Given the description of an element on the screen output the (x, y) to click on. 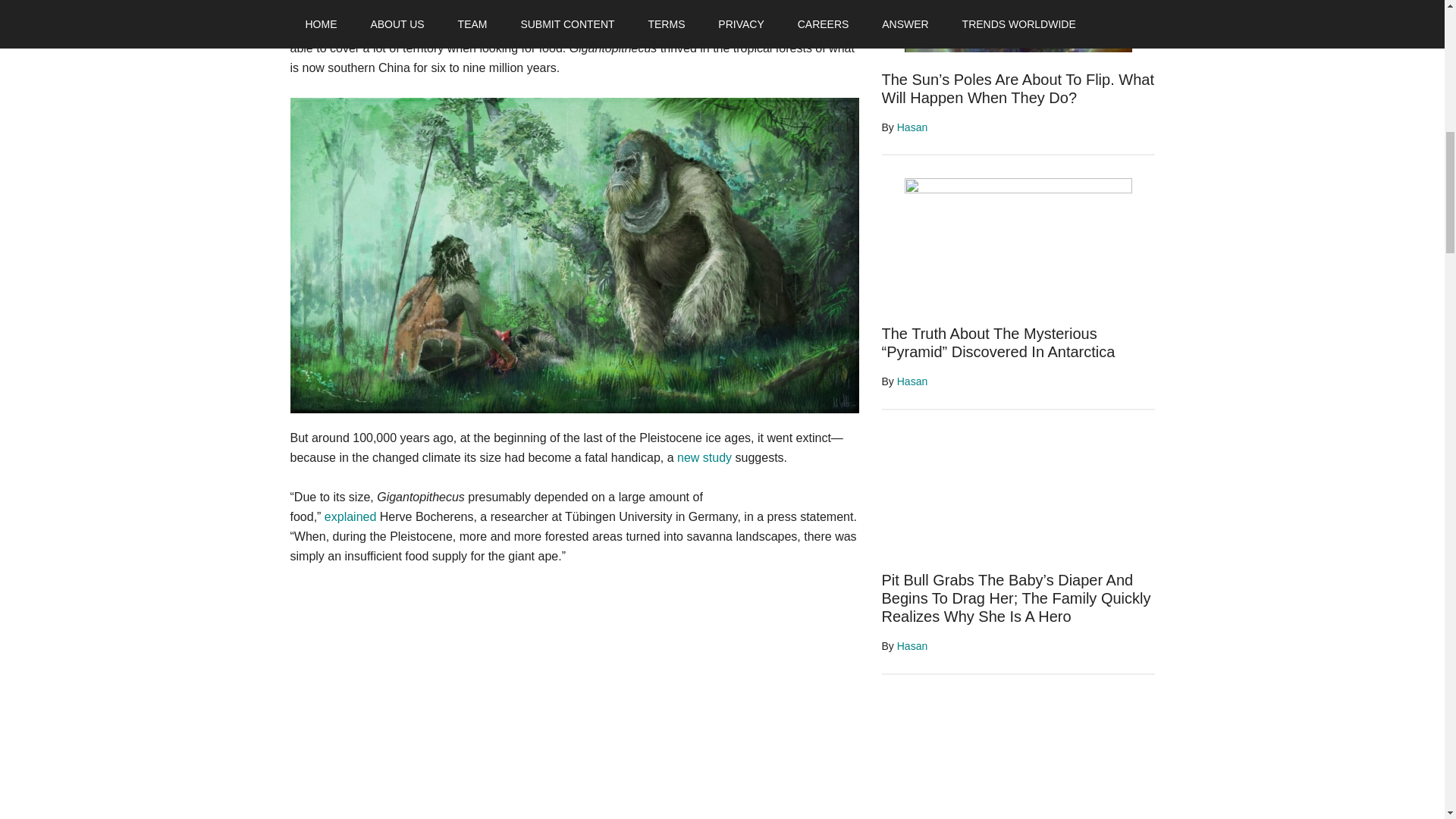
new study (704, 457)
explained (350, 516)
